Given the description of an element on the screen output the (x, y) to click on. 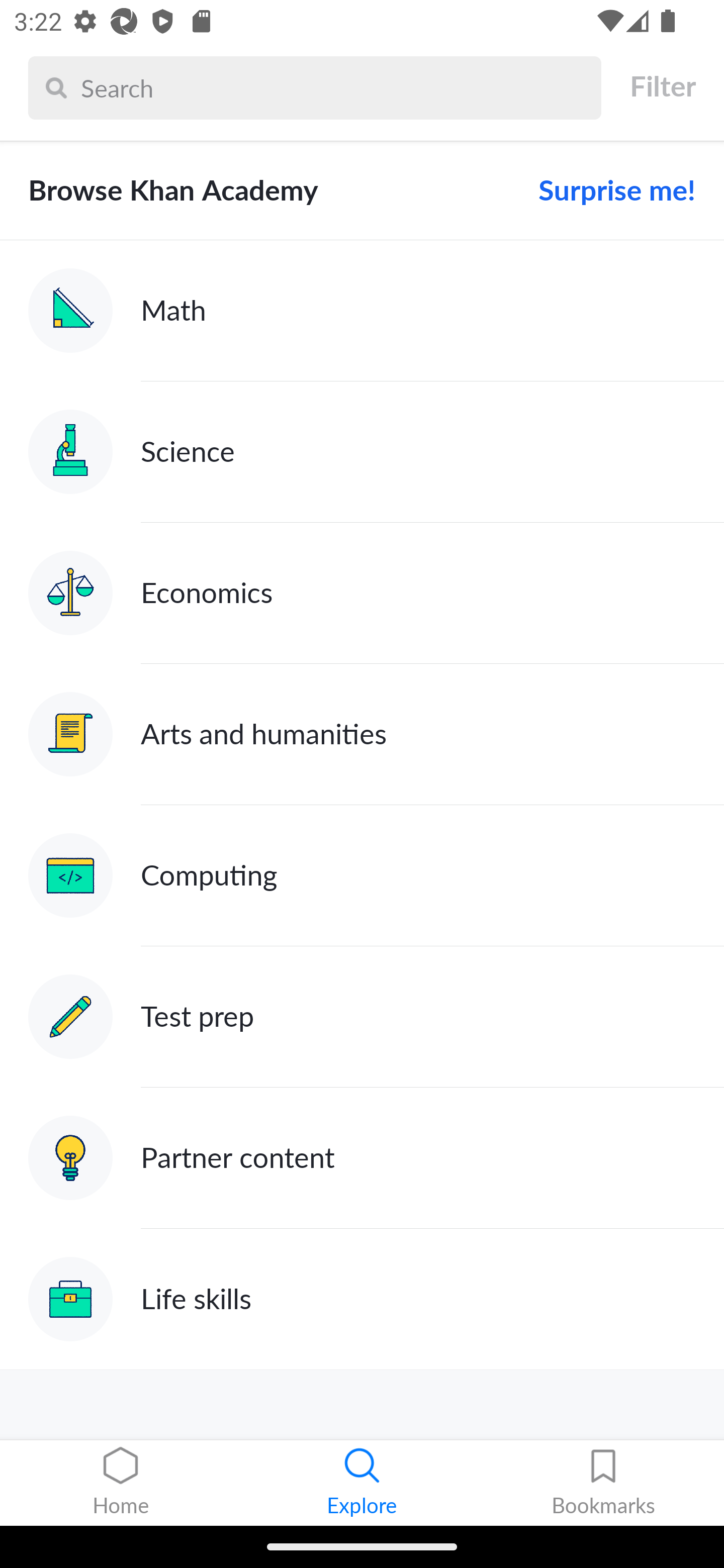
Search Search Search (314, 87)
Search (335, 87)
Filter (662, 85)
Surprise me! (609, 190)
Math (362, 310)
Science (362, 451)
Economics (362, 592)
Arts and humanities (362, 733)
Computing (362, 875)
Test prep (362, 1017)
Partner content (362, 1158)
Life skills (362, 1298)
Home (120, 1482)
Explore (361, 1482)
Bookmarks (603, 1482)
